Given the description of an element on the screen output the (x, y) to click on. 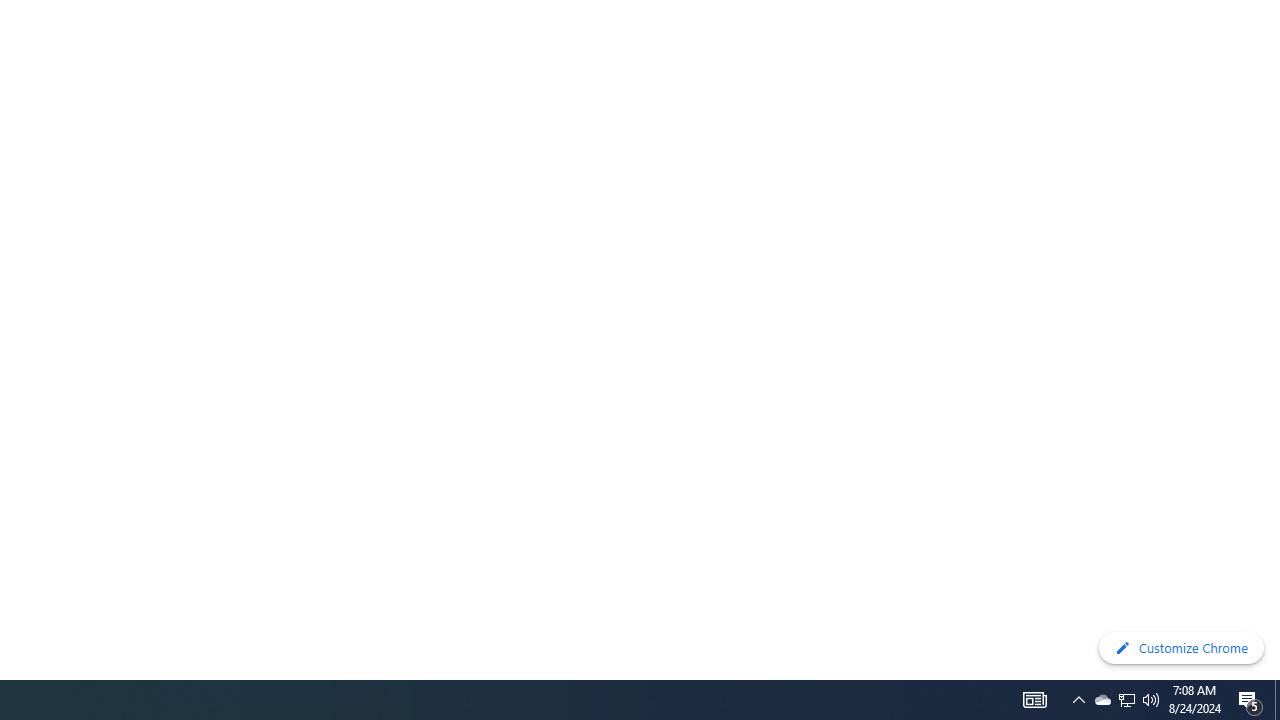
Customize Chrome (1181, 647)
